Given the description of an element on the screen output the (x, y) to click on. 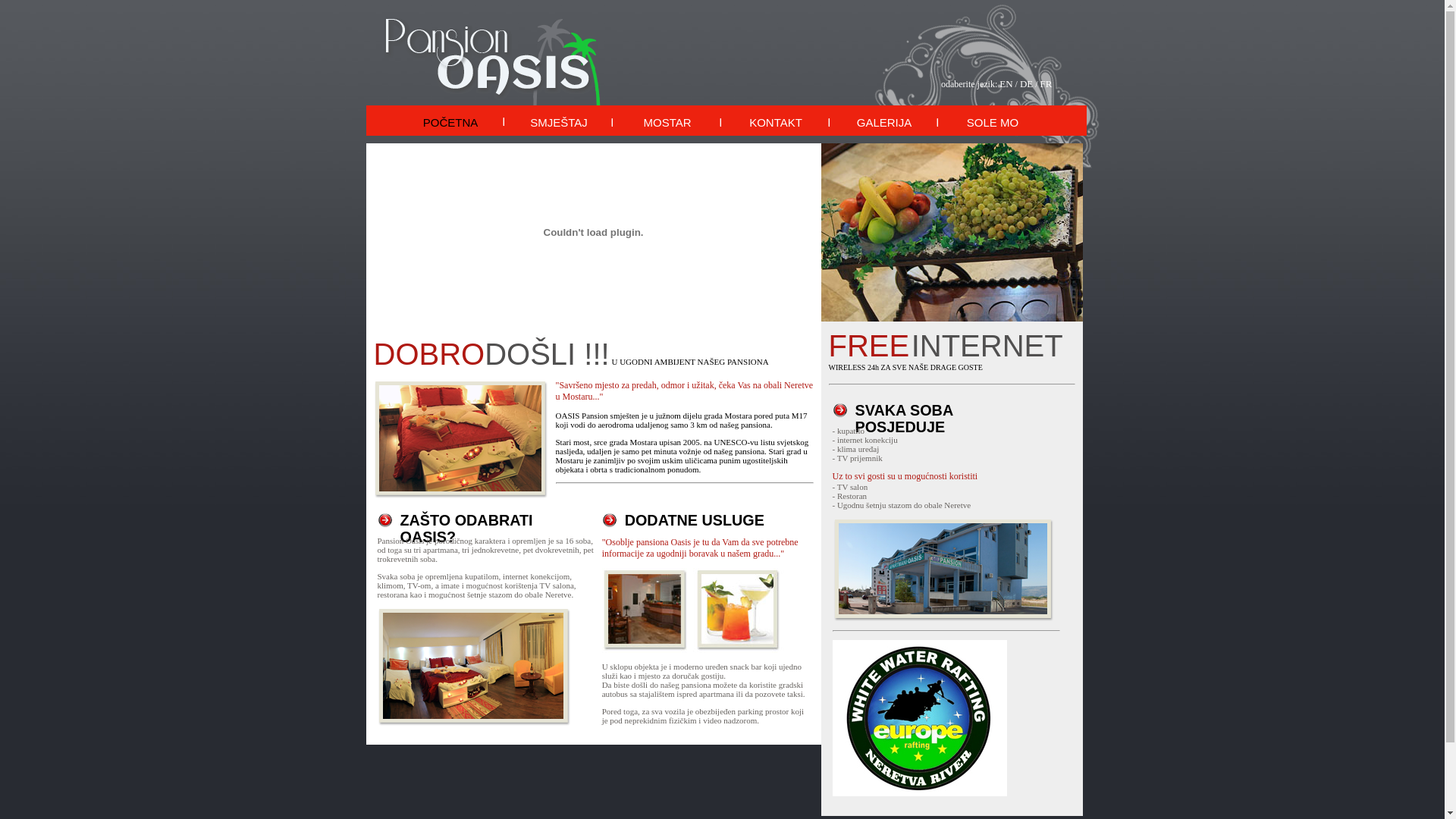
KONTAKT Element type: text (775, 120)
DE Element type: text (1025, 83)
SOLE MO Element type: text (992, 120)
MOSTAR Element type: text (666, 120)
FR Element type: text (1046, 83)
EN Element type: text (1005, 83)
GALERIJA Element type: text (883, 120)
